Given the description of an element on the screen output the (x, y) to click on. 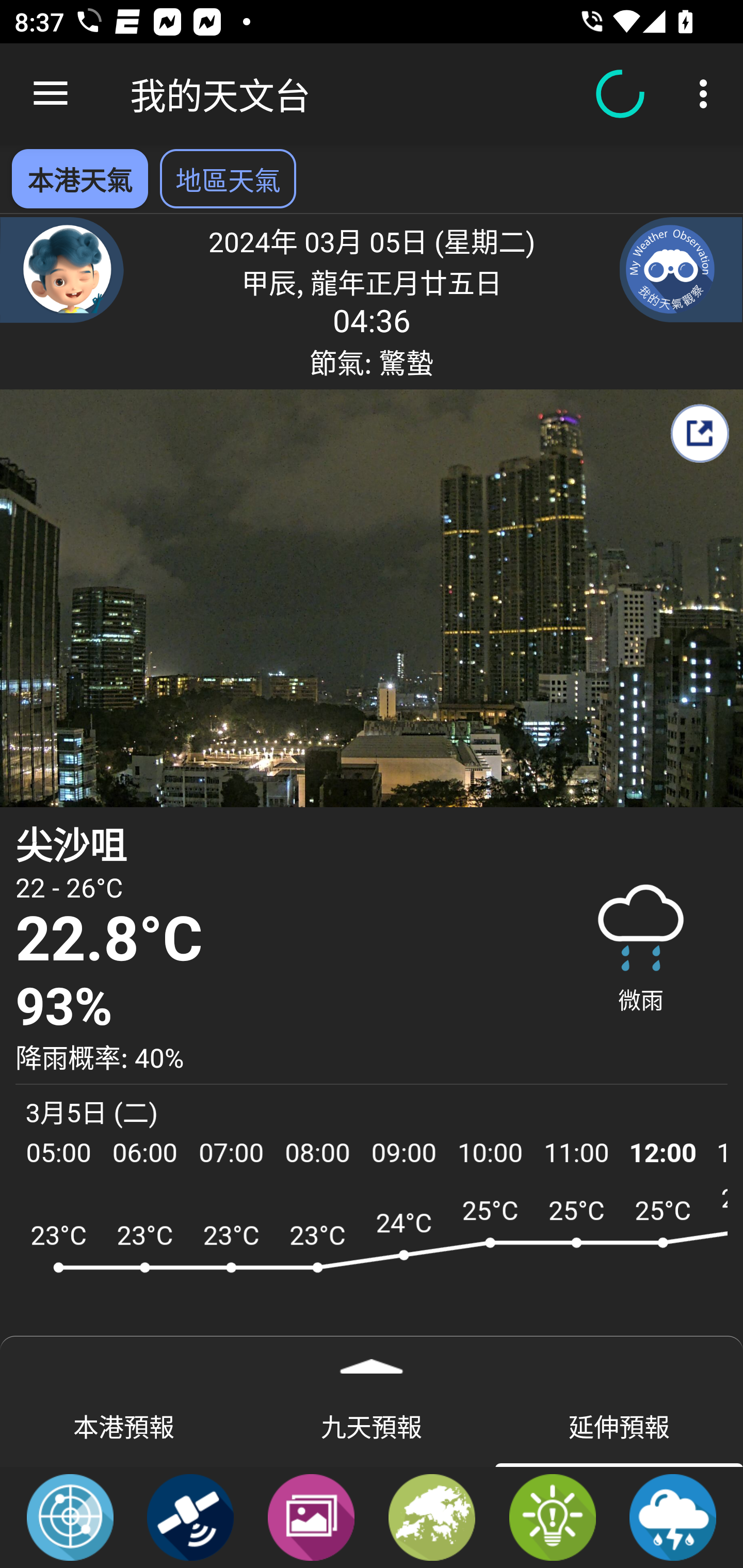
向上瀏覽 (50, 93)
更多選項 (706, 93)
本港天氣 已選擇 本港天氣 (79, 178)
地區天氣 選擇 地區天氣 (227, 178)
聊天機械人 (62, 269)
我的天氣觀察 (680, 269)
分享我的天氣報告 (699, 433)
22.8°C 氣溫22.8攝氏度 (276, 939)
93% 相對濕度百分之93 (276, 1007)
九天自動天氣預報 圖片
輕按進入內頁，即可了解詳細資料。 ARWF (371, 1275)
展開 (371, 1358)
本港預報 (123, 1424)
九天預報 (371, 1424)
雷達圖像 (69, 1516)
衛星圖像 (190, 1516)
天氣照片 (310, 1516)
分區天氣 (431, 1516)
天氣提示 (551, 1516)
定點降雨及閃電預報 (672, 1516)
